Given the description of an element on the screen output the (x, y) to click on. 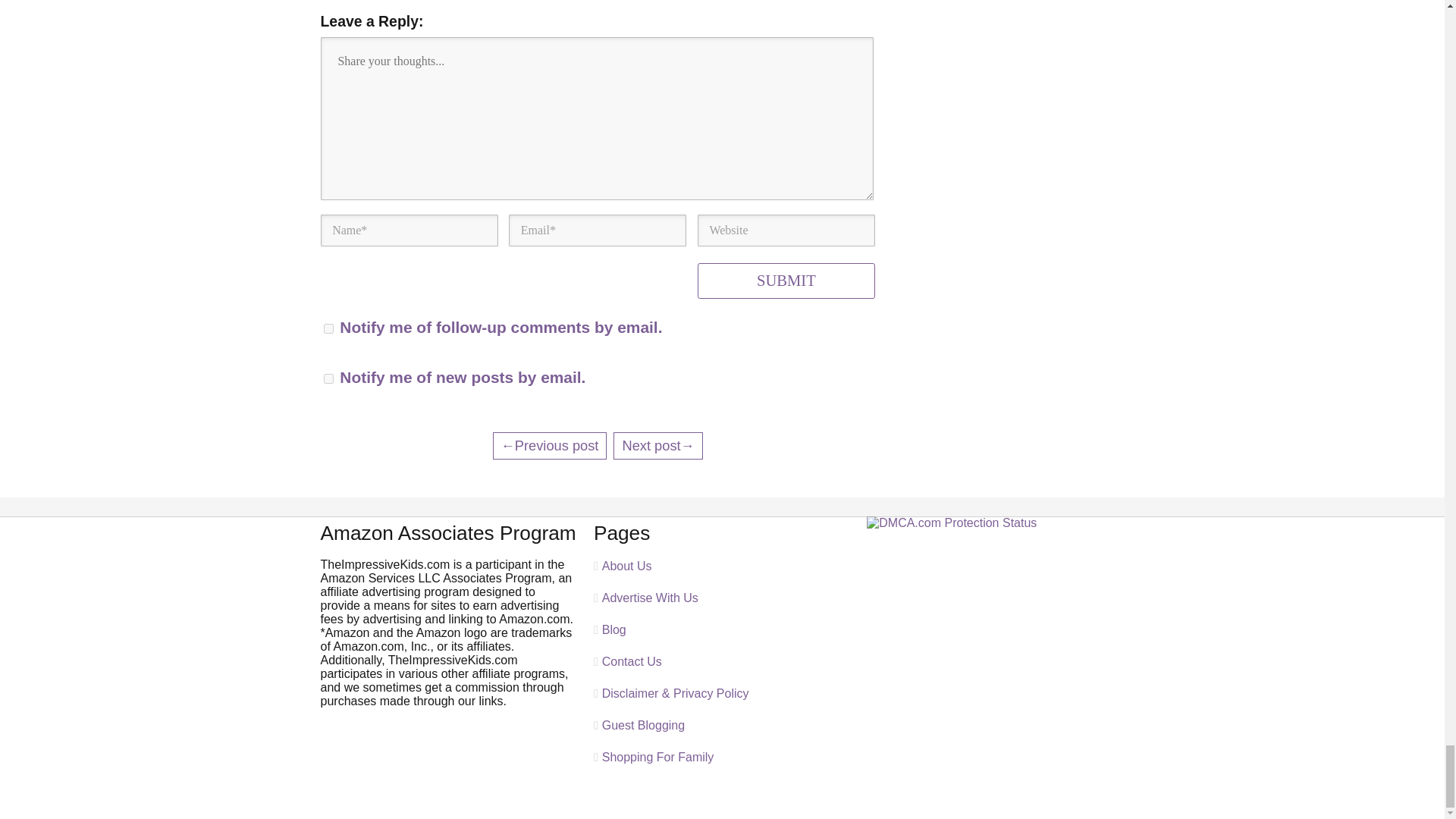
SUBMIT (786, 280)
subscribe (328, 328)
subscribe (328, 378)
